Given the description of an element on the screen output the (x, y) to click on. 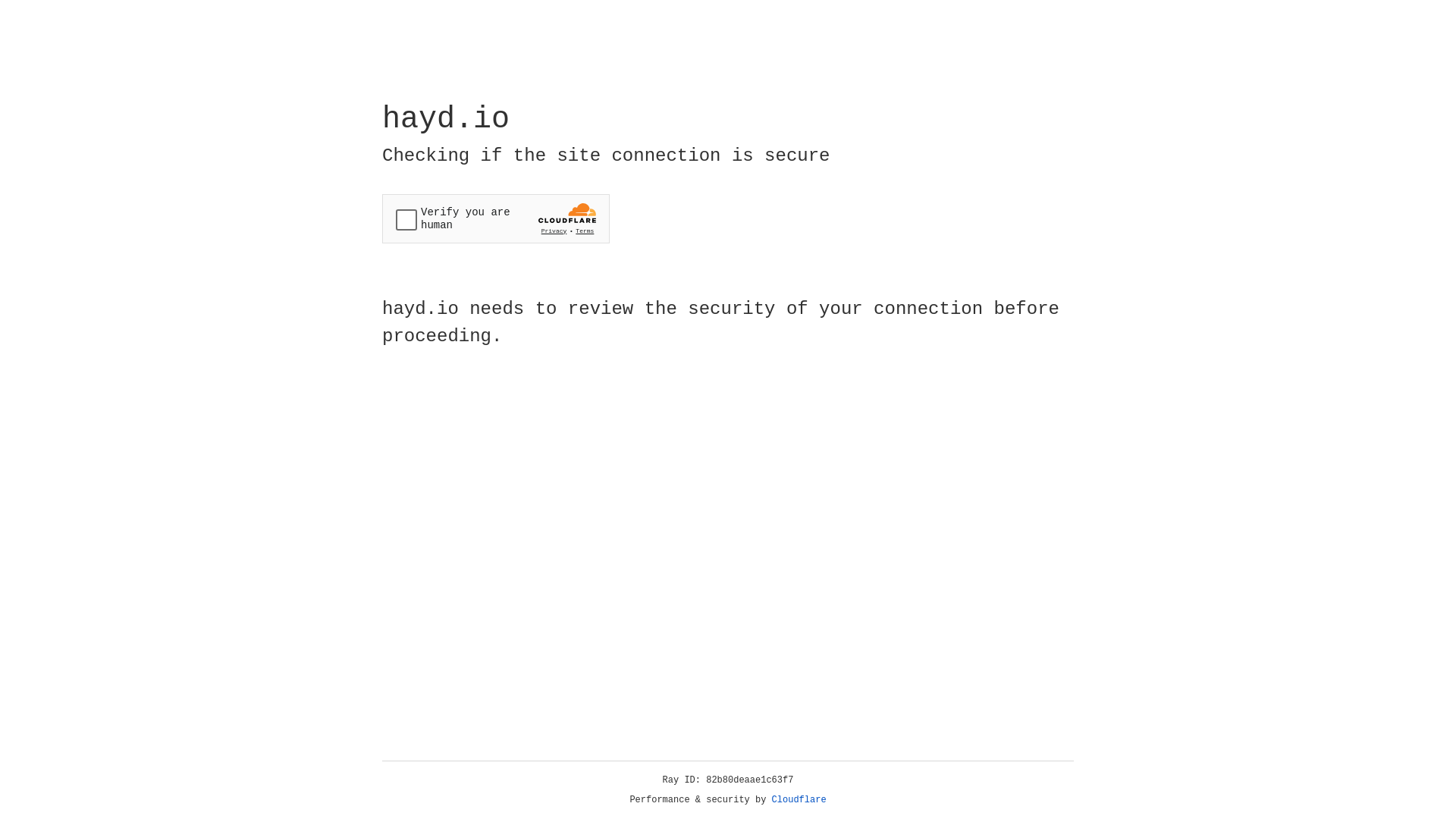
Cloudflare Element type: text (798, 799)
Widget containing a Cloudflare security challenge Element type: hover (495, 218)
